Given the description of an element on the screen output the (x, y) to click on. 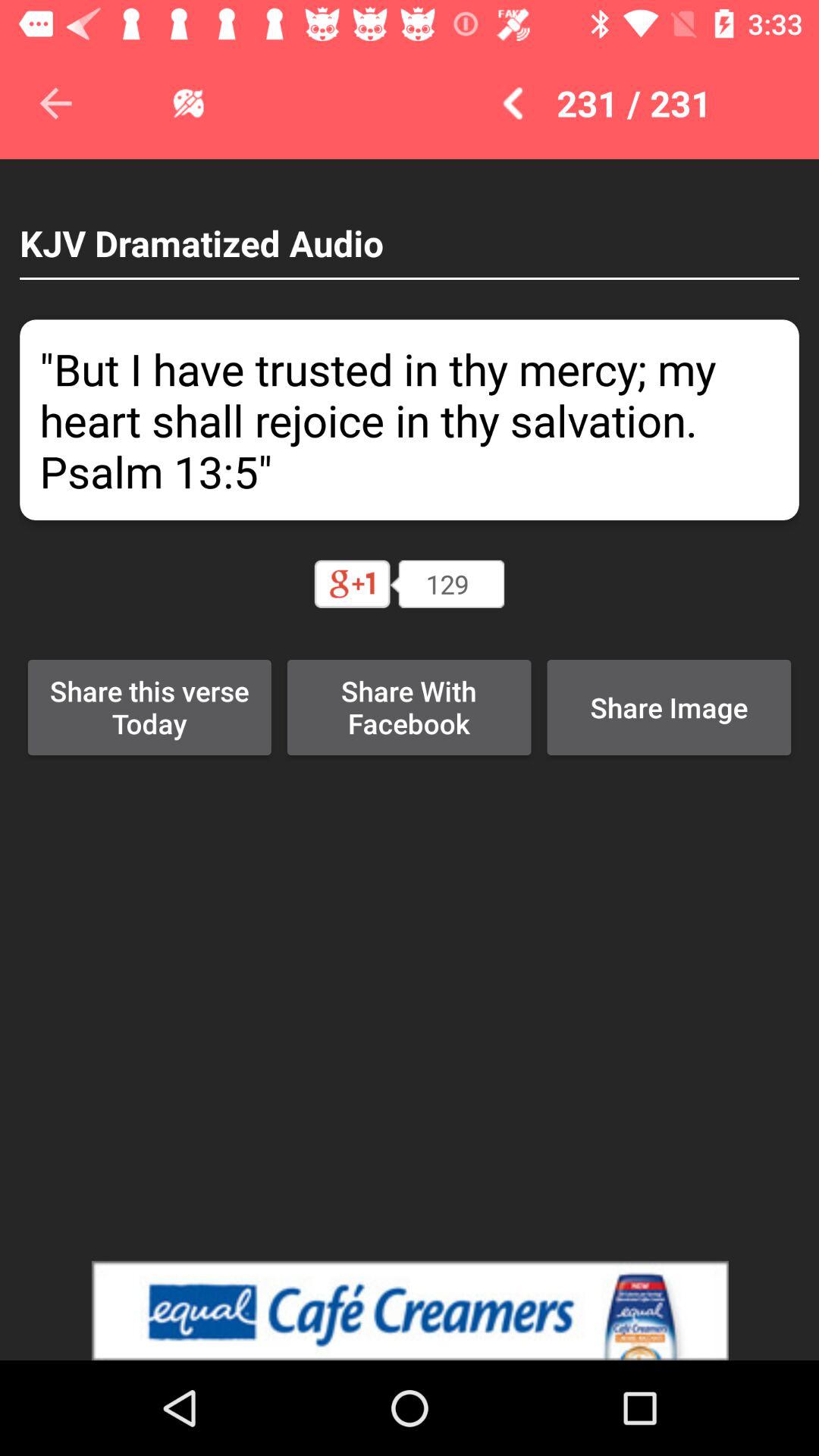
arrow to go back (55, 103)
